Given the description of an element on the screen output the (x, y) to click on. 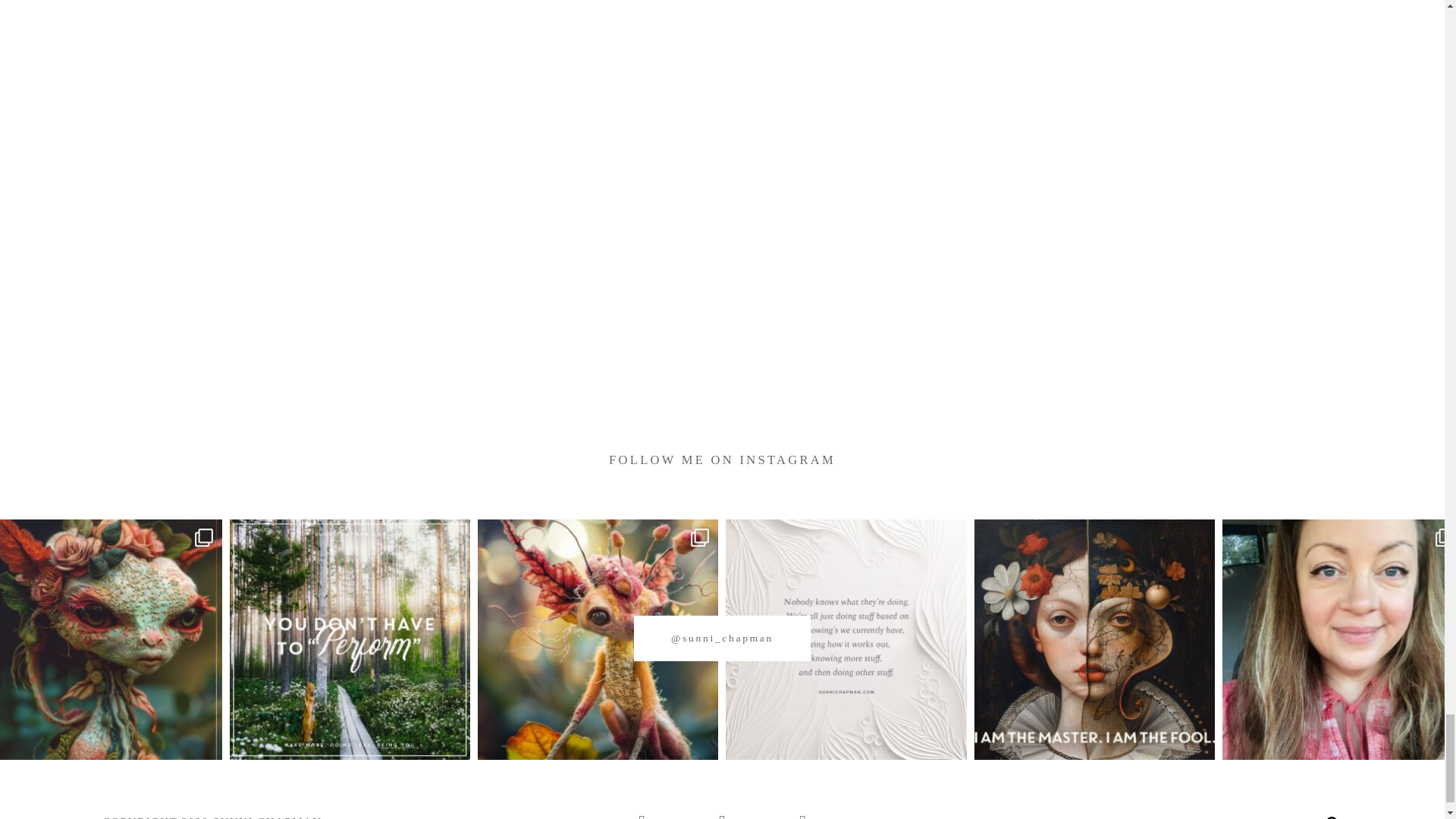
Sorry, your browser does not support inline SVG. (1331, 817)
